Given the description of an element on the screen output the (x, y) to click on. 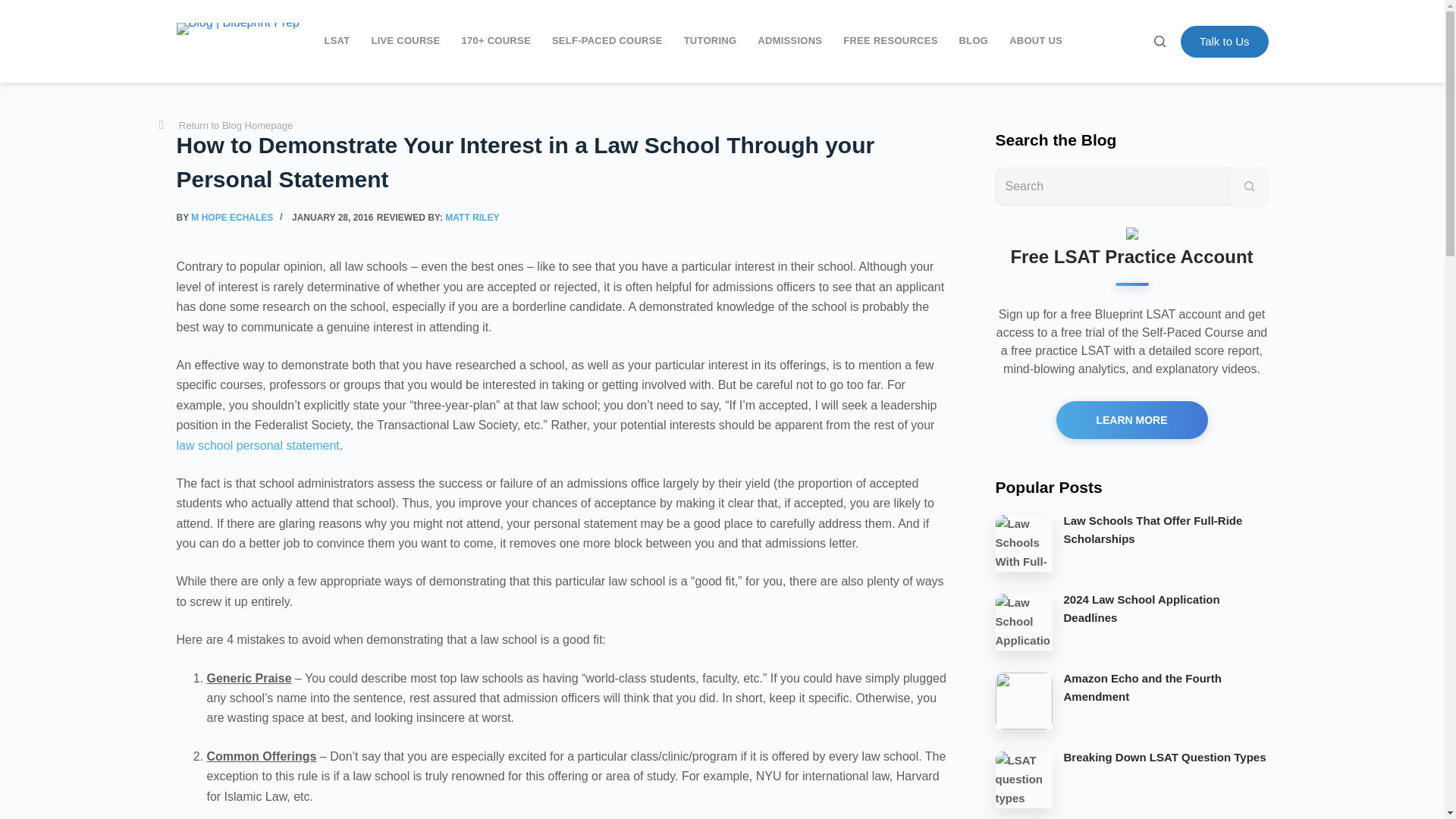
Skip to content (15, 7)
M HOPE ECHALES (231, 217)
ADMISSIONS (789, 41)
law school personal statement (257, 445)
Posts by M Hope Echales (231, 217)
MATT RILEY (472, 217)
LEARN MORE (1131, 419)
FREE RESOURCES (890, 41)
Talk to Us (1224, 41)
Return to Blog Homepage (225, 125)
LIVE COURSE (405, 41)
Search for... (1112, 185)
SELF-PACED COURSE (606, 41)
